Given the description of an element on the screen output the (x, y) to click on. 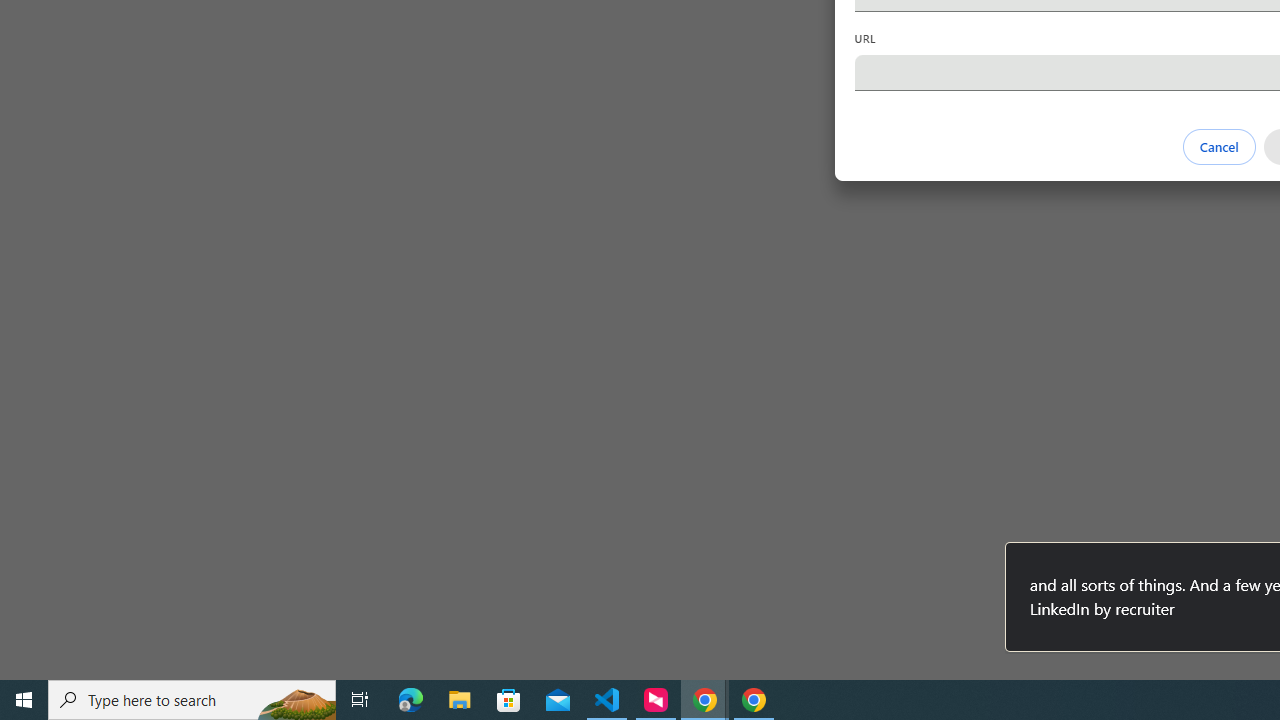
Cancel (1218, 146)
